Given the description of an element on the screen output the (x, y) to click on. 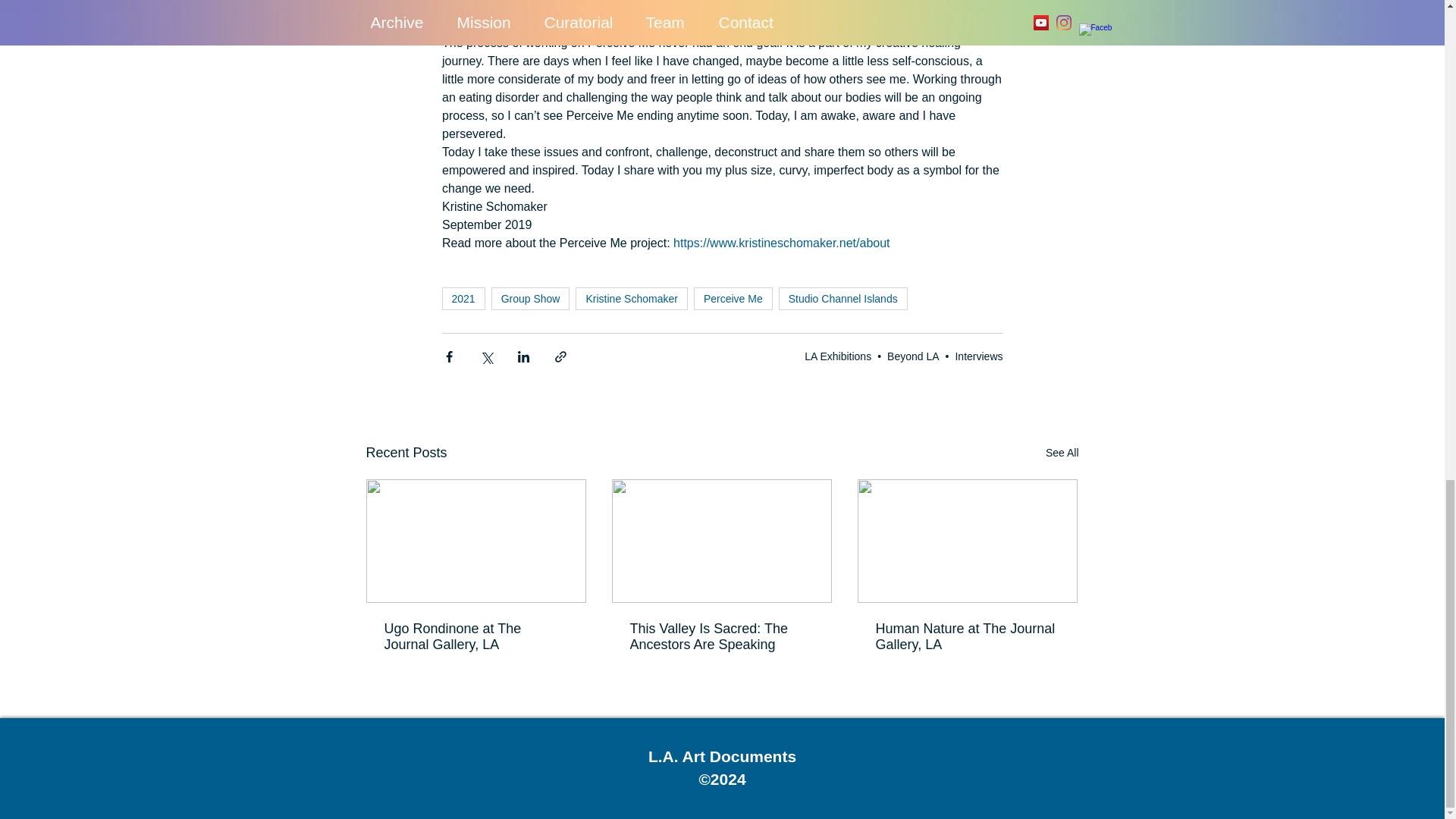
Beyond LA (912, 356)
2021 (462, 298)
Interviews (979, 356)
Studio Channel Islands (842, 298)
Kristine Schomaker (631, 298)
Group Show (531, 298)
See All (1061, 453)
Perceive Me (733, 298)
LA Exhibitions (837, 356)
